Given the description of an element on the screen output the (x, y) to click on. 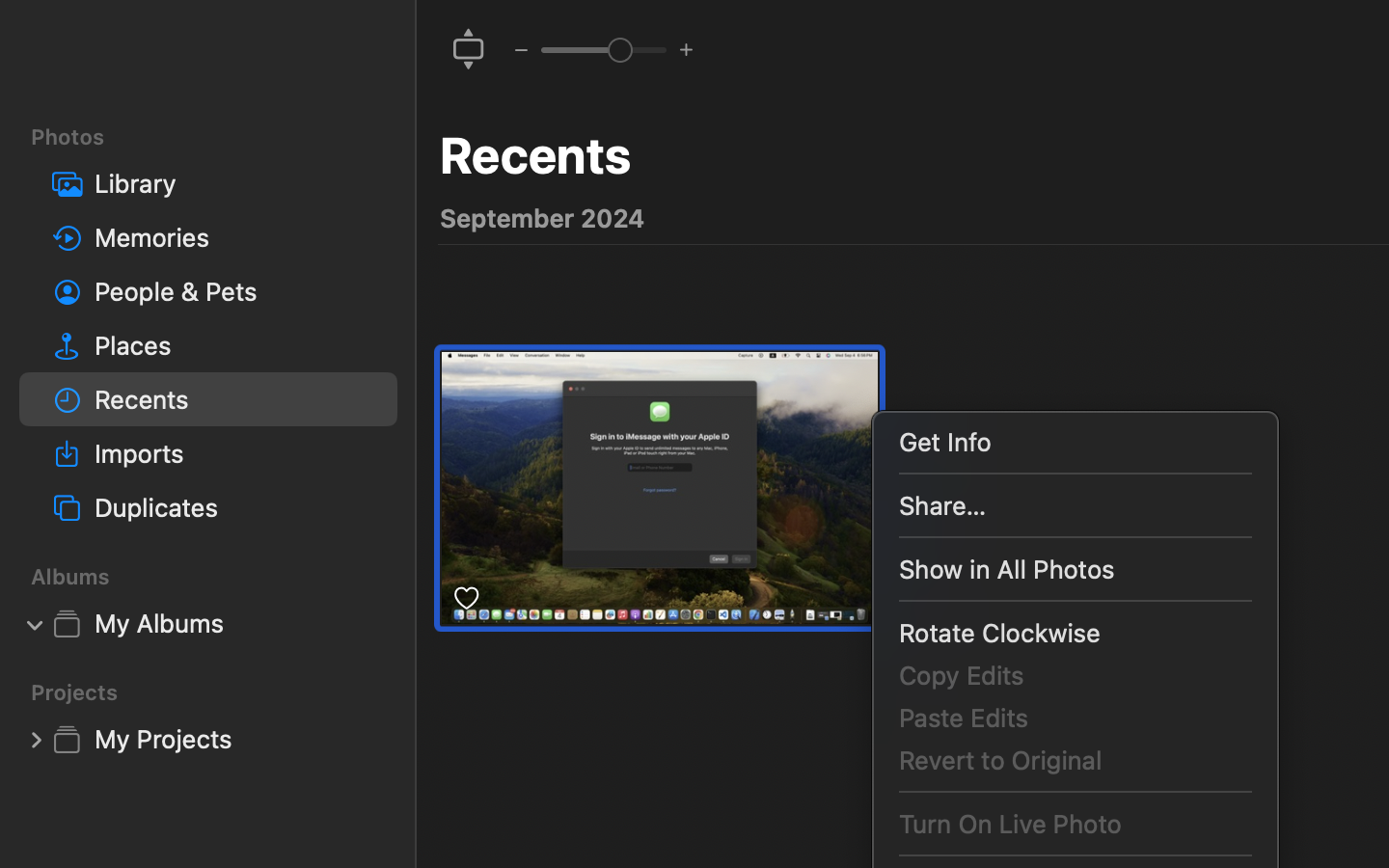
2.0 Element type: AXSlider (602, 48)
Imports Element type: AXStaticText (237, 452)
